Given the description of an element on the screen output the (x, y) to click on. 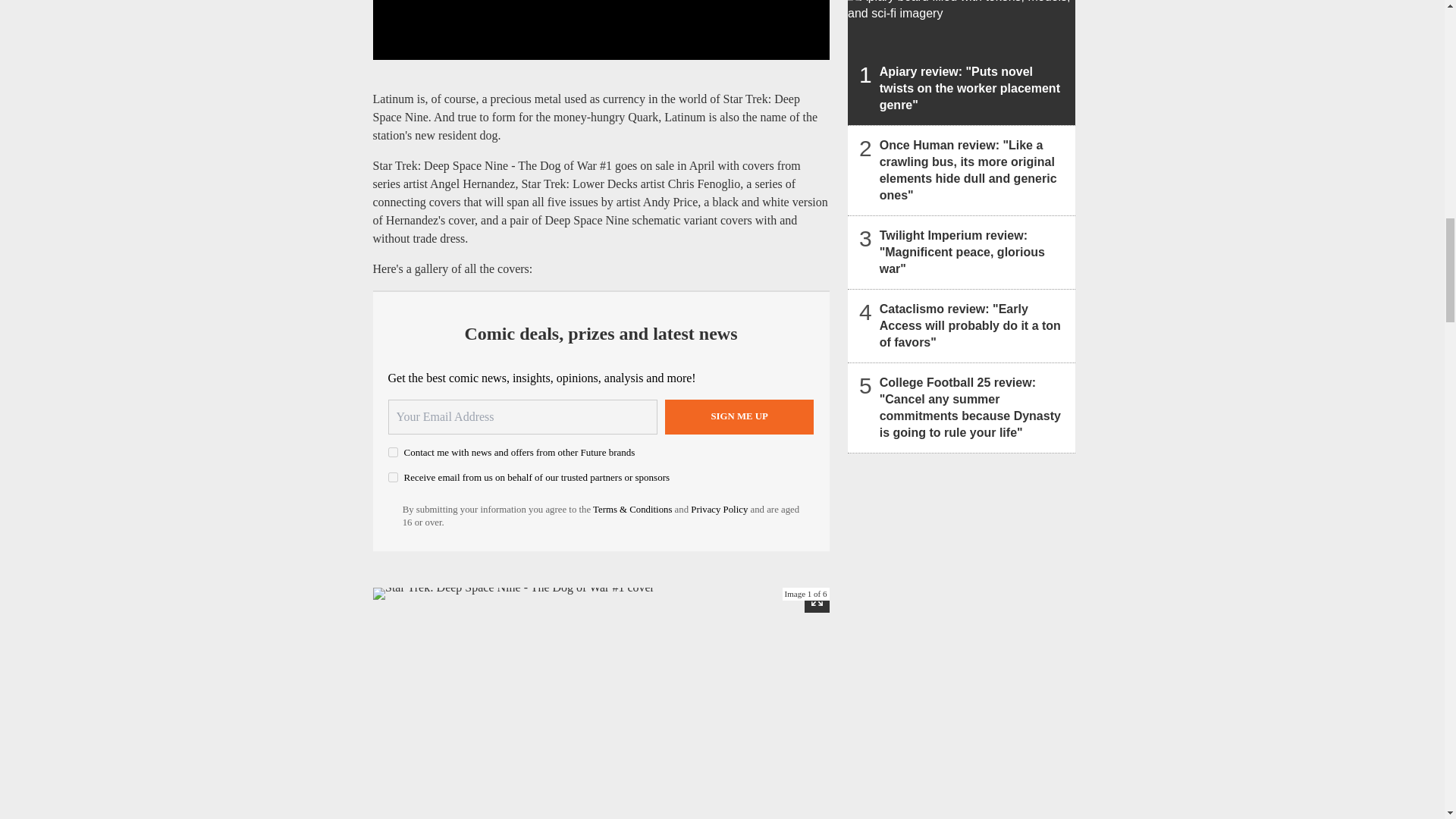
on (392, 452)
on (392, 477)
Sign me up (739, 416)
